Given the description of an element on the screen output the (x, y) to click on. 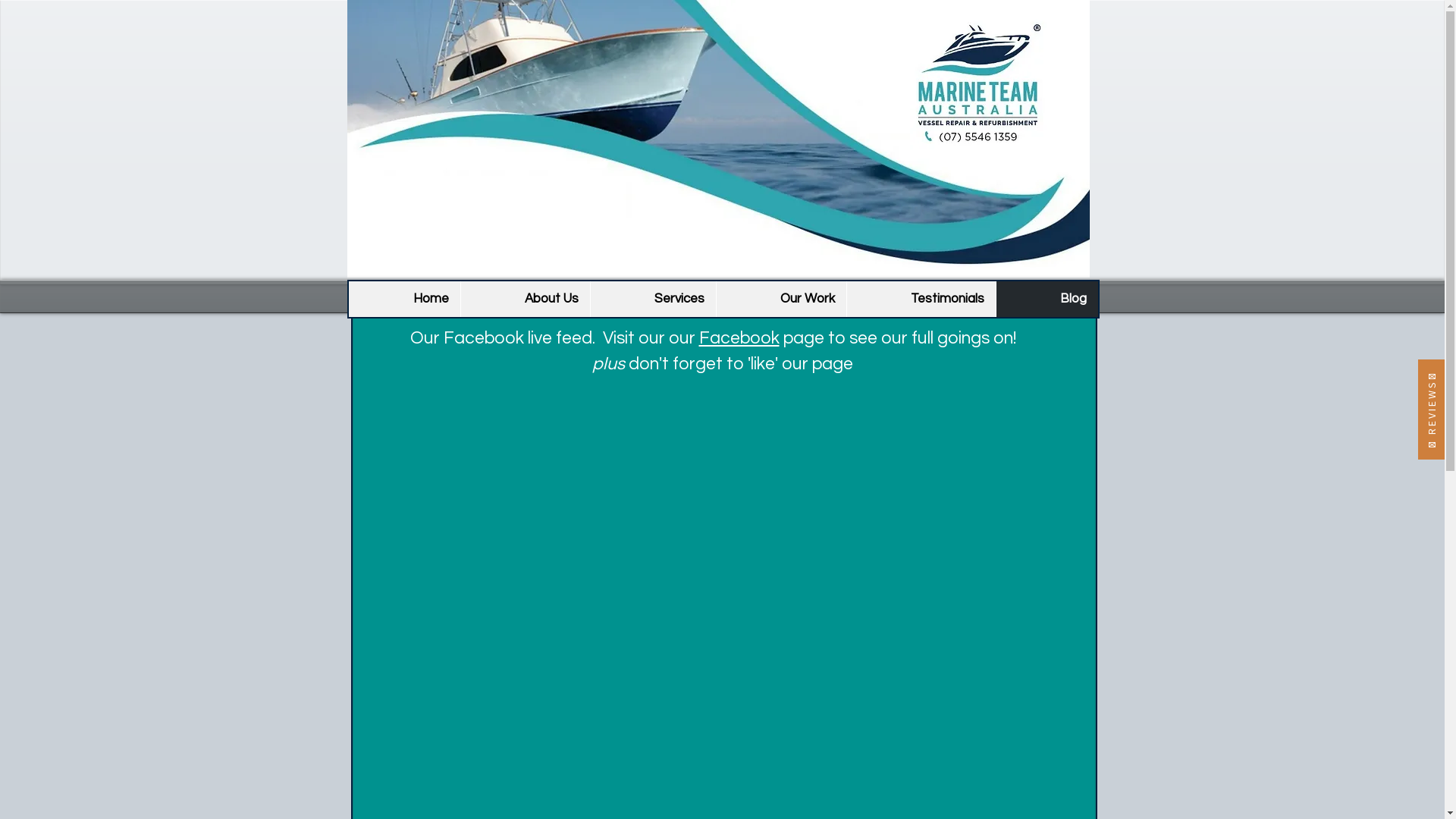
Services Element type: text (652, 298)
Kudobuzz Social Reviews Element type: hover (1431, 409)
Home Element type: text (404, 298)
Banner Blank.jpg Element type: hover (718, 138)
Facebook Element type: text (739, 338)
About Us Element type: text (524, 298)
Blog Element type: text (1045, 298)
Our Work Element type: text (780, 298)
Testimonials Element type: text (920, 298)
